Given the description of an element on the screen output the (x, y) to click on. 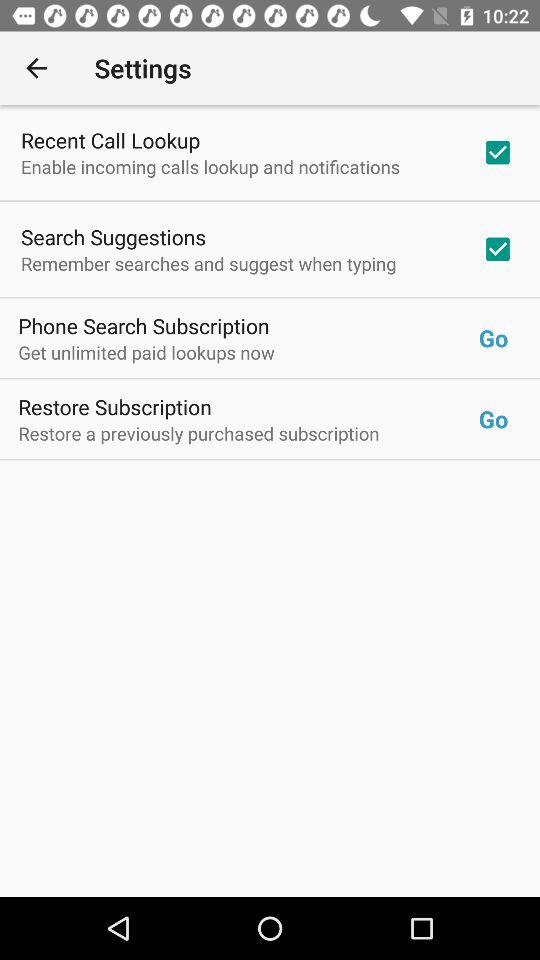
select enable incoming calls item (210, 166)
